Given the description of an element on the screen output the (x, y) to click on. 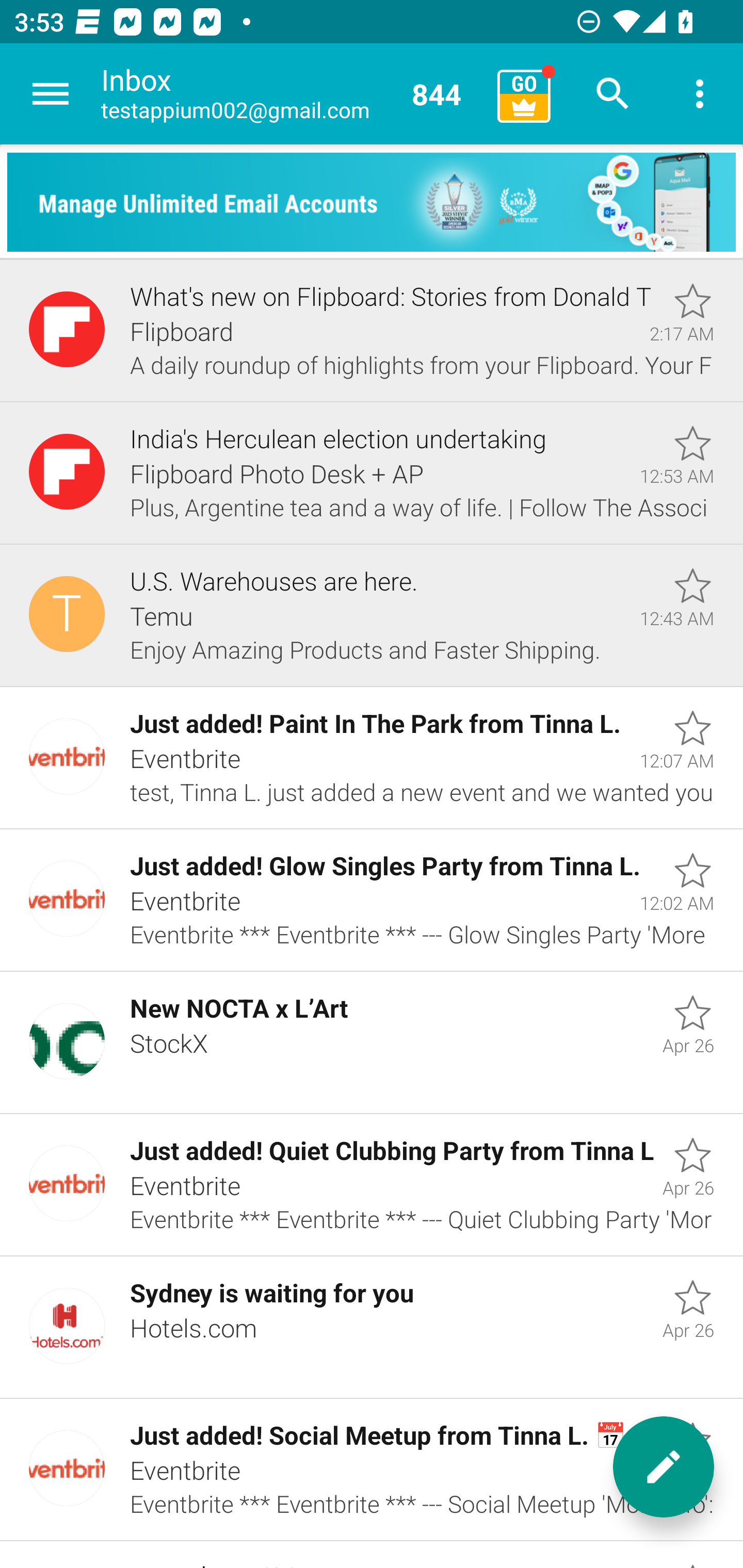
Navigate up (50, 93)
Inbox testappium002@gmail.com 844 (291, 93)
Search (612, 93)
More options (699, 93)
Unread, New NOCTA x L’Art, StockX, Apr 26 (371, 1043)
New message (663, 1466)
